Given the description of an element on the screen output the (x, y) to click on. 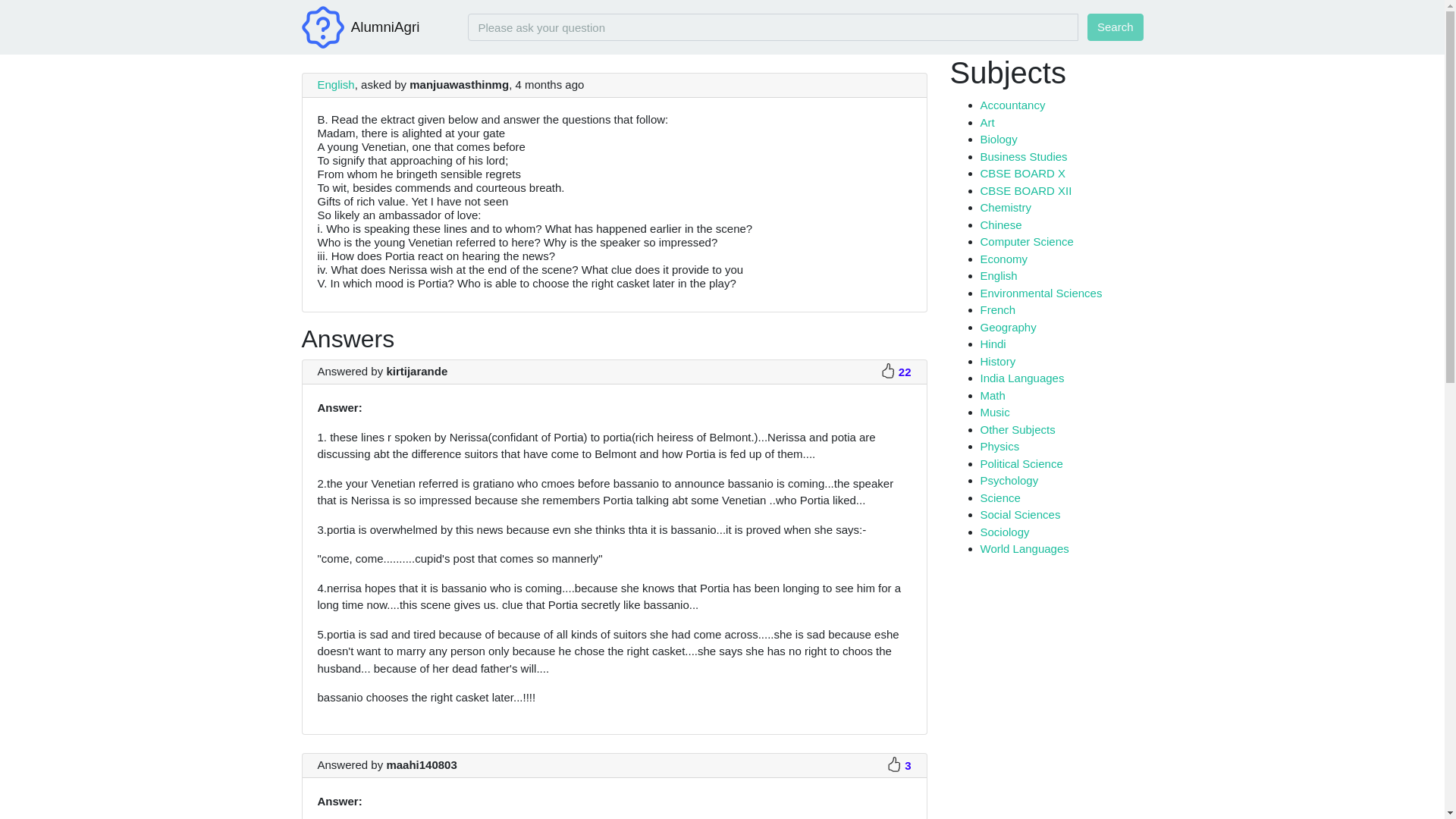
Environmental Sciences (1040, 292)
Biology (997, 138)
Hindi (992, 343)
Computer Science (1026, 241)
CBSE BOARD XII (1025, 189)
Economy (1003, 257)
Accountancy (1012, 104)
French (996, 309)
History (996, 360)
English (335, 83)
